Given the description of an element on the screen output the (x, y) to click on. 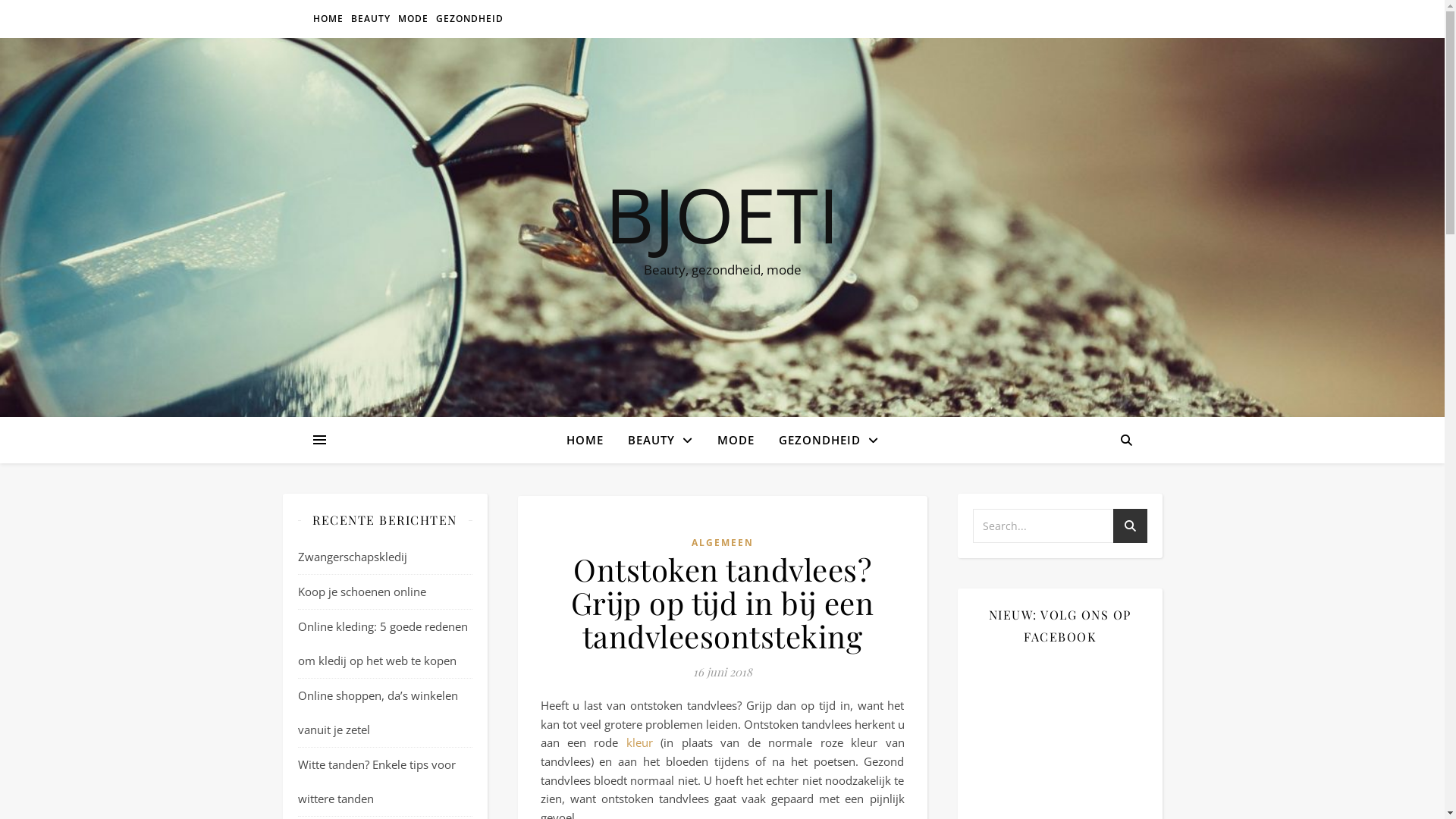
ALGEMEEN Element type: text (722, 542)
HOME Element type: text (590, 439)
MODE Element type: text (413, 18)
GEZONDHEID Element type: text (821, 440)
BEAUTY Element type: text (370, 18)
kleur Element type: text (639, 741)
GEZONDHEID Element type: text (467, 18)
Witte tanden? Enkele tips voor wittere tanden Element type: text (376, 781)
st Element type: text (1129, 527)
BEAUTY Element type: text (660, 440)
Zwangerschapskledij Element type: text (351, 556)
MODE Element type: text (735, 439)
Koop je schoenen online Element type: text (361, 591)
BJOETI Element type: text (722, 213)
HOME Element type: text (329, 18)
